Given the description of an element on the screen output the (x, y) to click on. 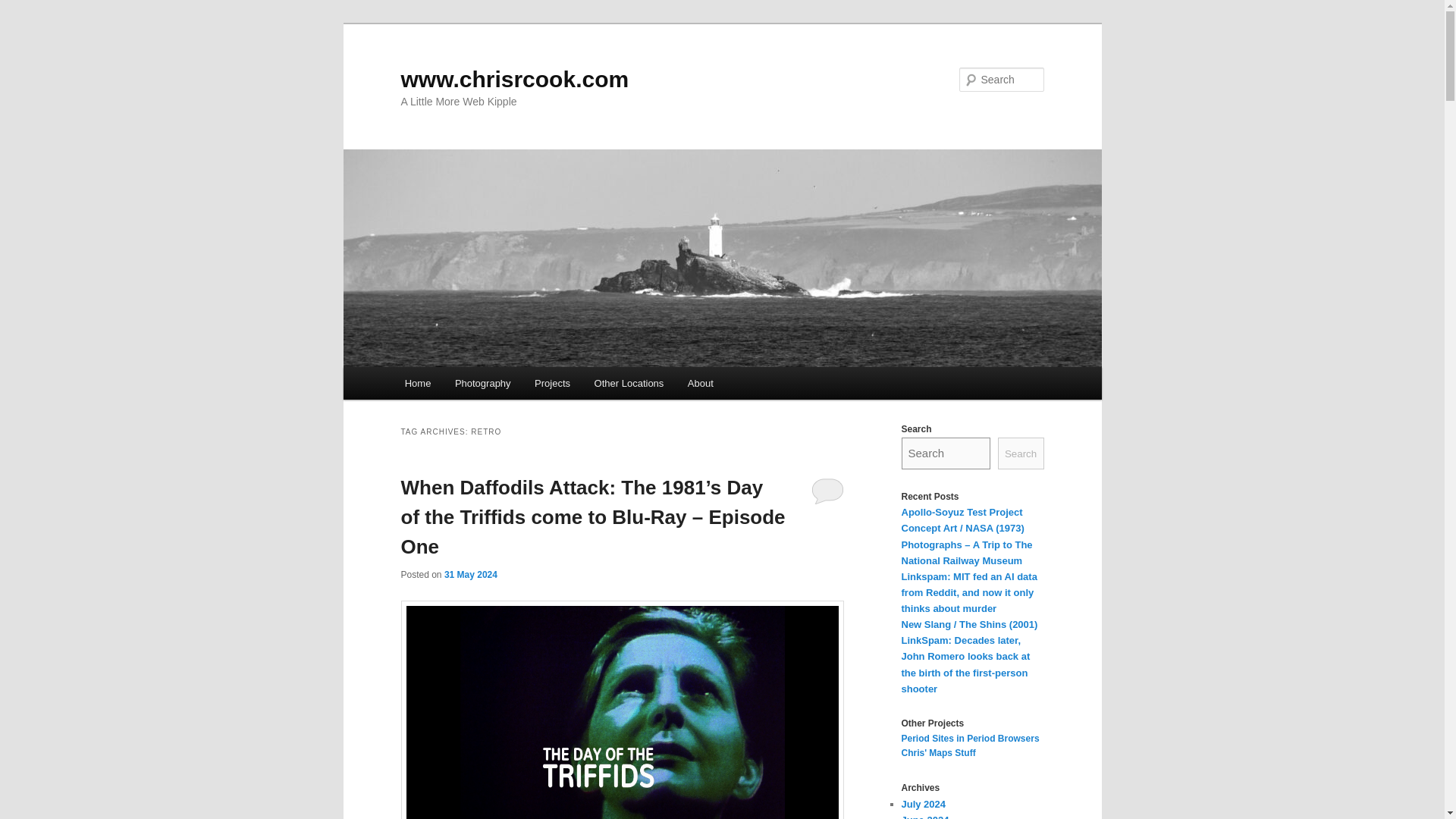
www.chrisrcook.com (514, 78)
Search (24, 8)
Home (417, 382)
Projects (551, 382)
Photography (482, 382)
